Given the description of an element on the screen output the (x, y) to click on. 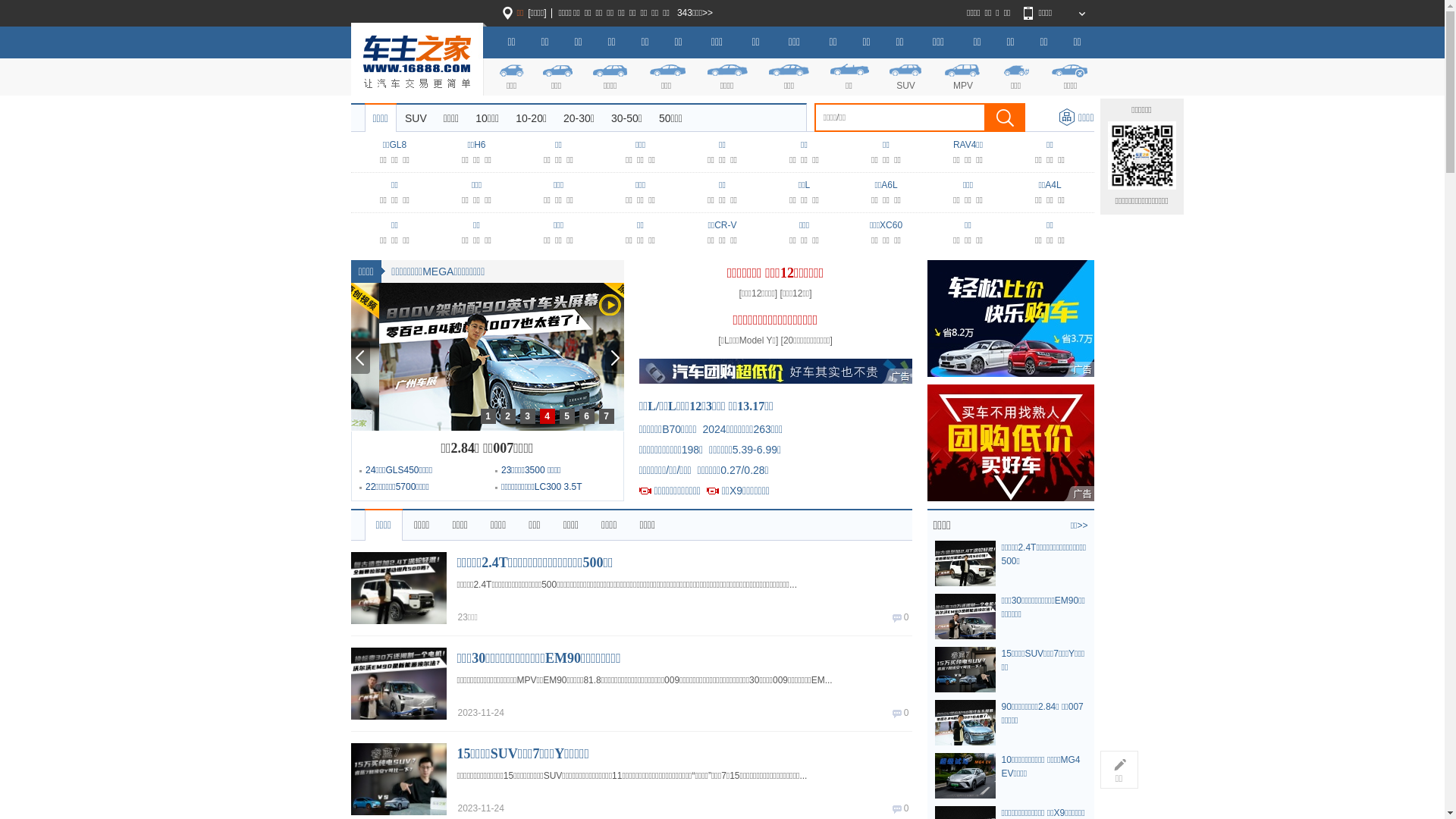
SUV Element type: text (415, 117)
MPV Element type: text (962, 75)
SUV Element type: text (906, 75)
